Given the description of an element on the screen output the (x, y) to click on. 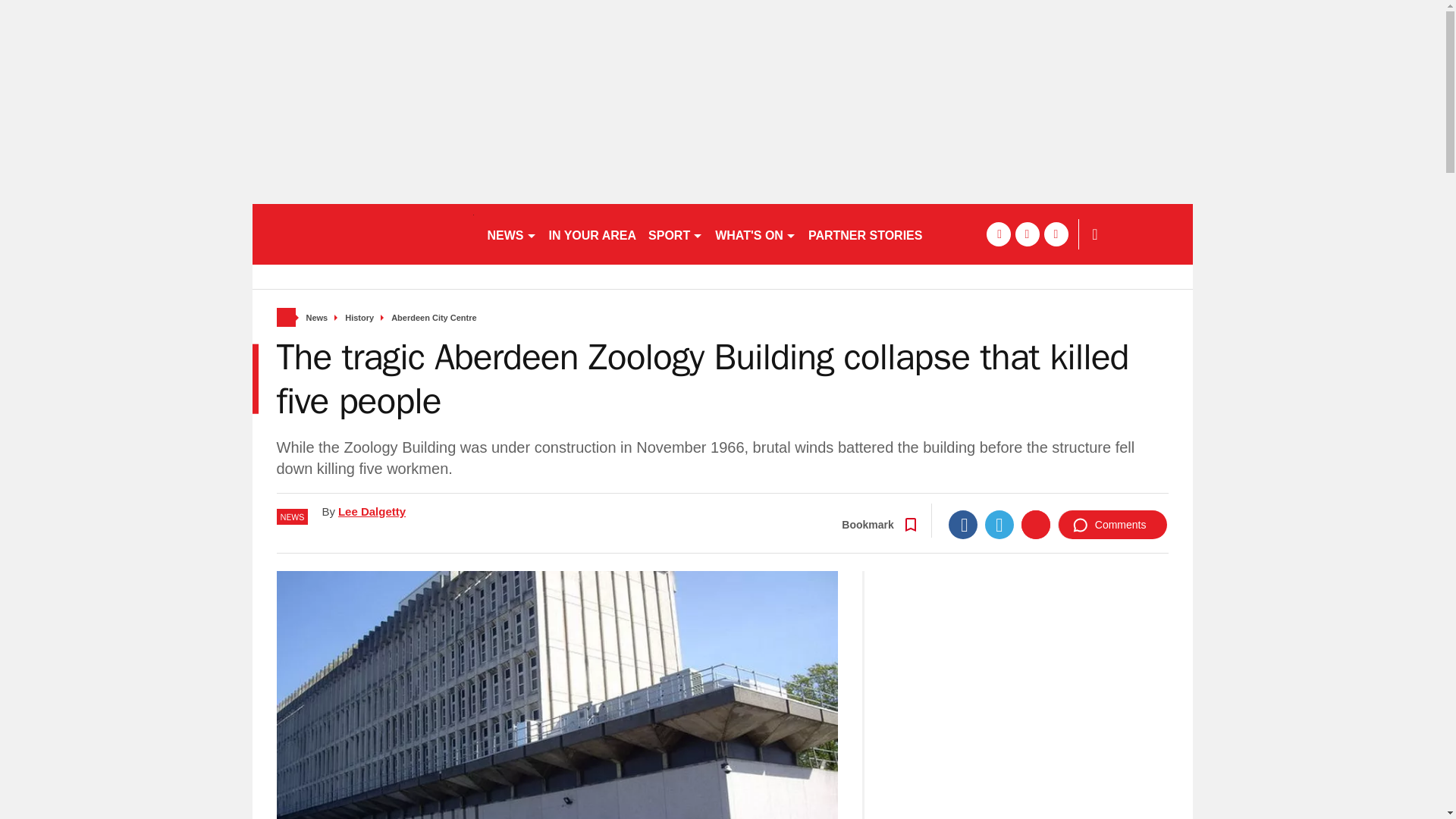
Comments (1112, 524)
facebook (997, 233)
aberdeenlive (362, 233)
Facebook (962, 524)
WHAT'S ON (755, 233)
instagram (1055, 233)
NEWS (510, 233)
SPORT (675, 233)
Twitter (999, 524)
IN YOUR AREA (593, 233)
PARTNER STORIES (865, 233)
twitter (1026, 233)
